Given the description of an element on the screen output the (x, y) to click on. 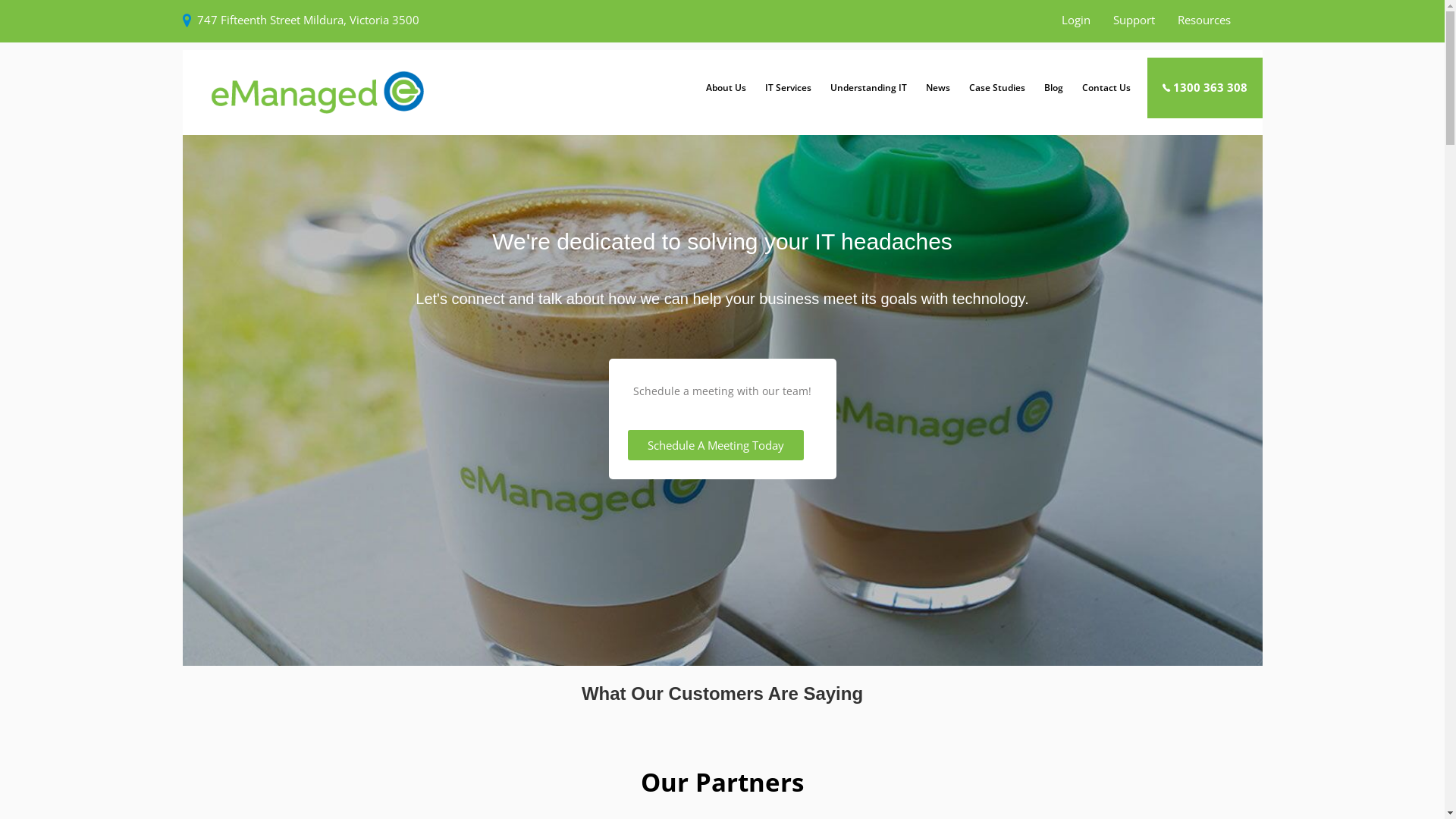
Login Element type: text (1075, 19)
Understanding IT Element type: text (868, 87)
Support Element type: text (1133, 19)
Contact Us Element type: text (1105, 87)
Case Studies Element type: text (995, 87)
News Element type: text (937, 87)
Blog Element type: text (1053, 87)
Schedule A Meeting Today Element type: text (715, 444)
747 Fifteenth Street Mildura, Victoria 3500 Element type: text (308, 20)
 1300 363 308 Element type: text (1203, 87)
IT Services Element type: text (787, 87)
About Us Element type: text (725, 87)
Resources Element type: text (1203, 19)
